Given the description of an element on the screen output the (x, y) to click on. 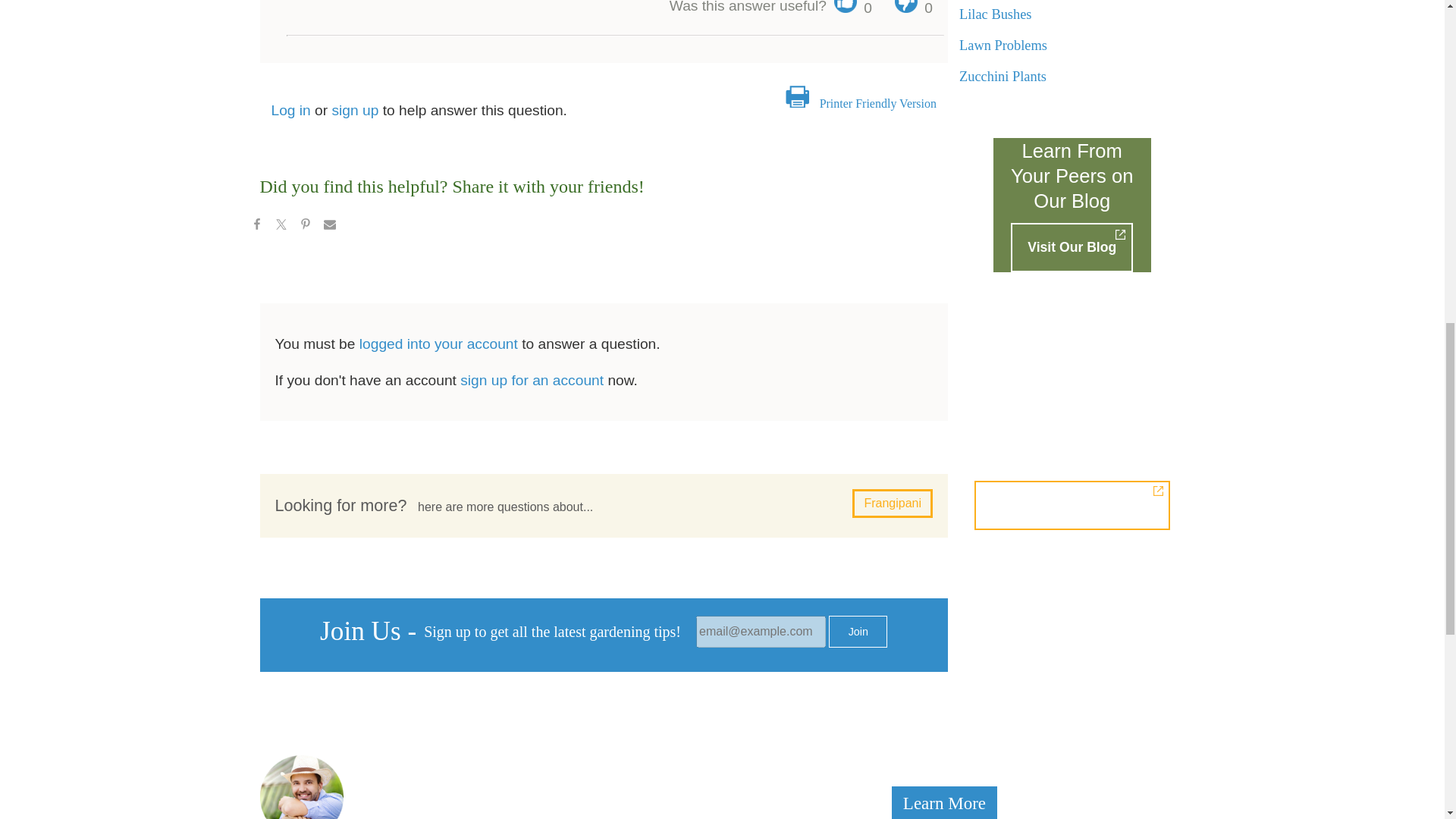
Share on Twitter (279, 226)
logged into your account (438, 343)
Printer Friendly Version (877, 103)
Join (857, 631)
Frangipani (892, 502)
Log in (290, 109)
sign up for an account (532, 379)
Share via Email (328, 226)
Share on Facebook (255, 226)
Share on Pinterest (304, 226)
Printer Friendly Version (877, 103)
sign up (354, 109)
